Given the description of an element on the screen output the (x, y) to click on. 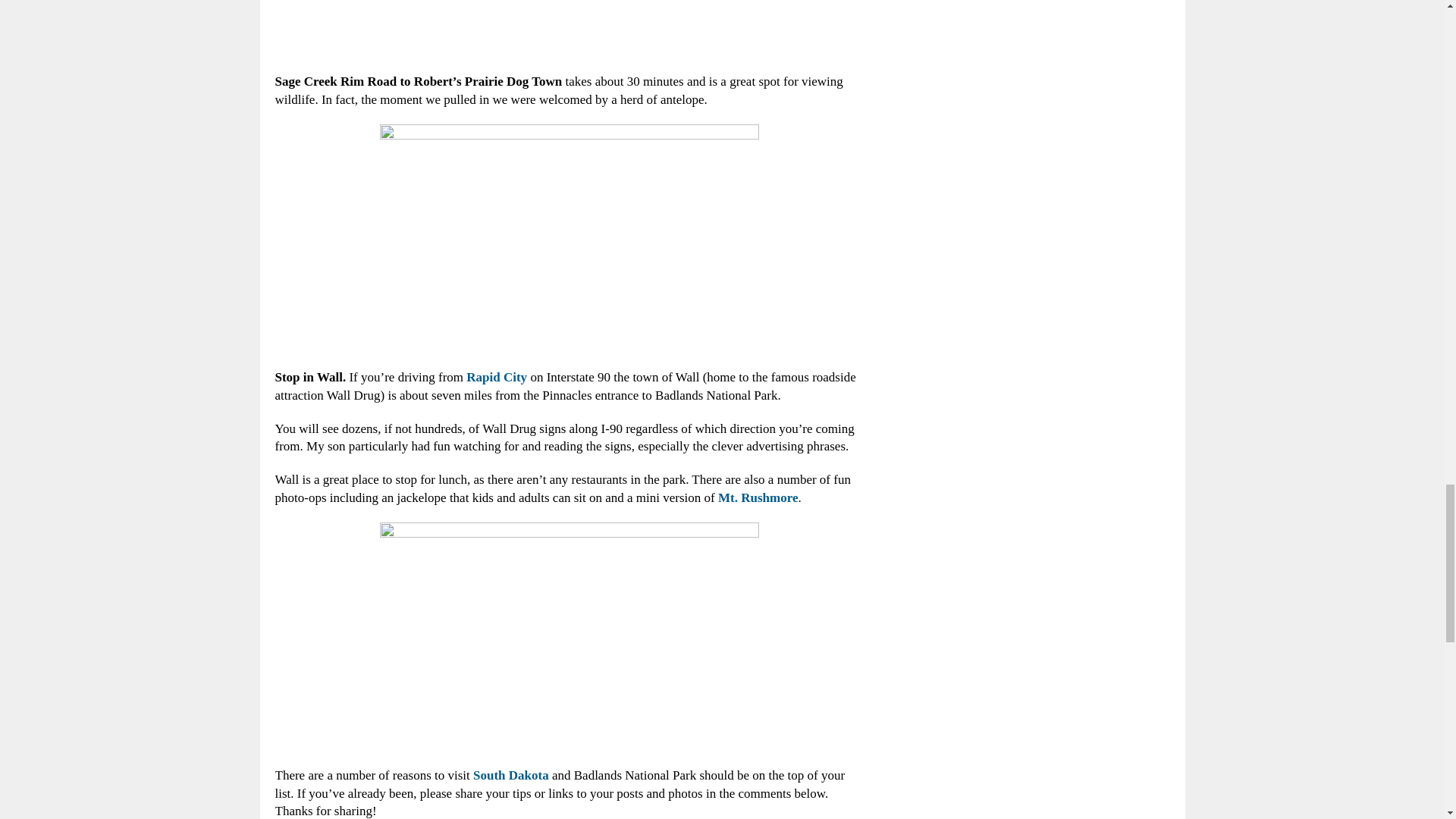
Wall Drug Sign (569, 636)
Badlands (569, 238)
Rattlesnakes (569, 28)
